Given the description of an element on the screen output the (x, y) to click on. 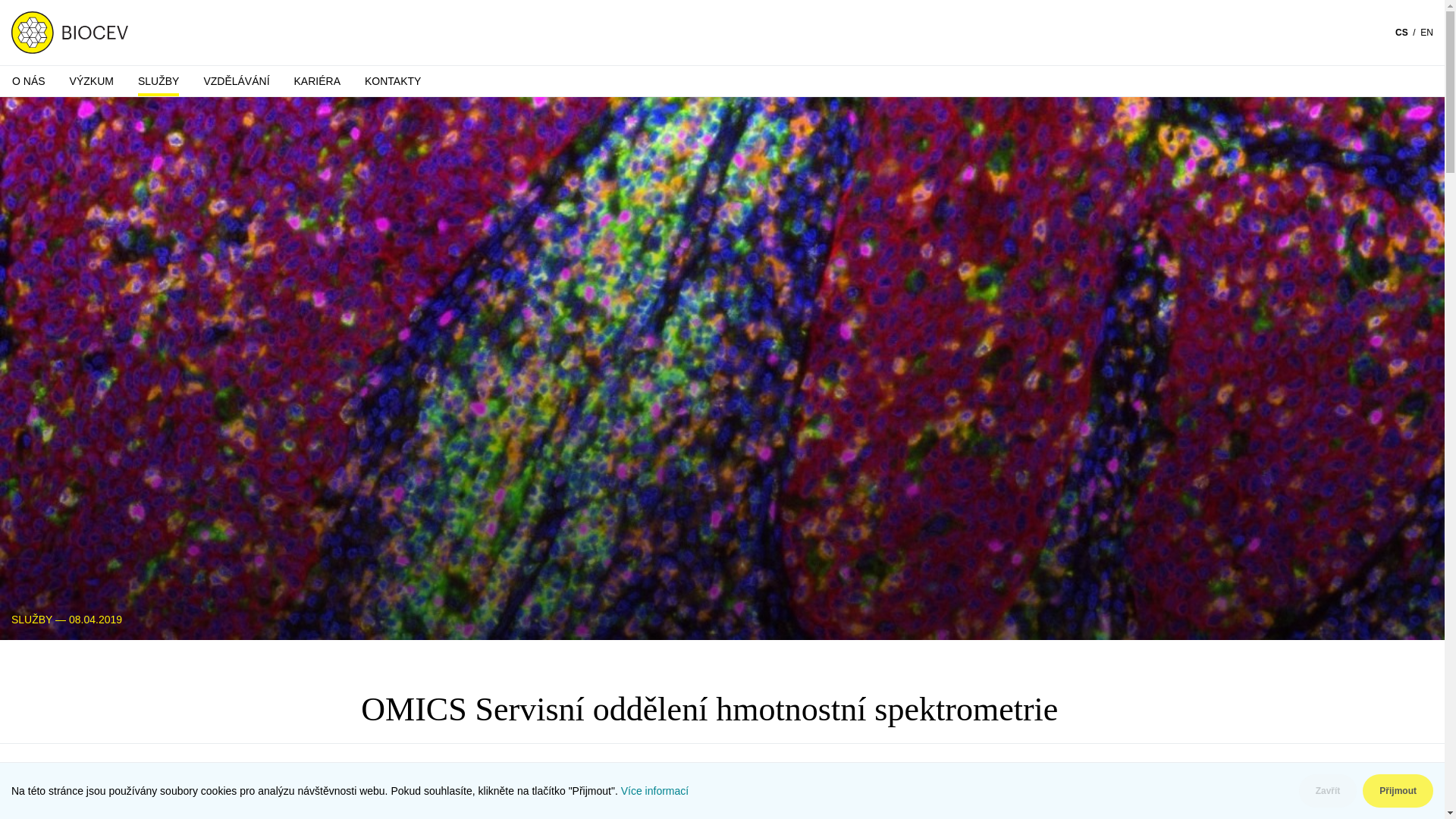
CS (1400, 32)
EN (1426, 32)
KONTAKTY (392, 81)
